Given the description of an element on the screen output the (x, y) to click on. 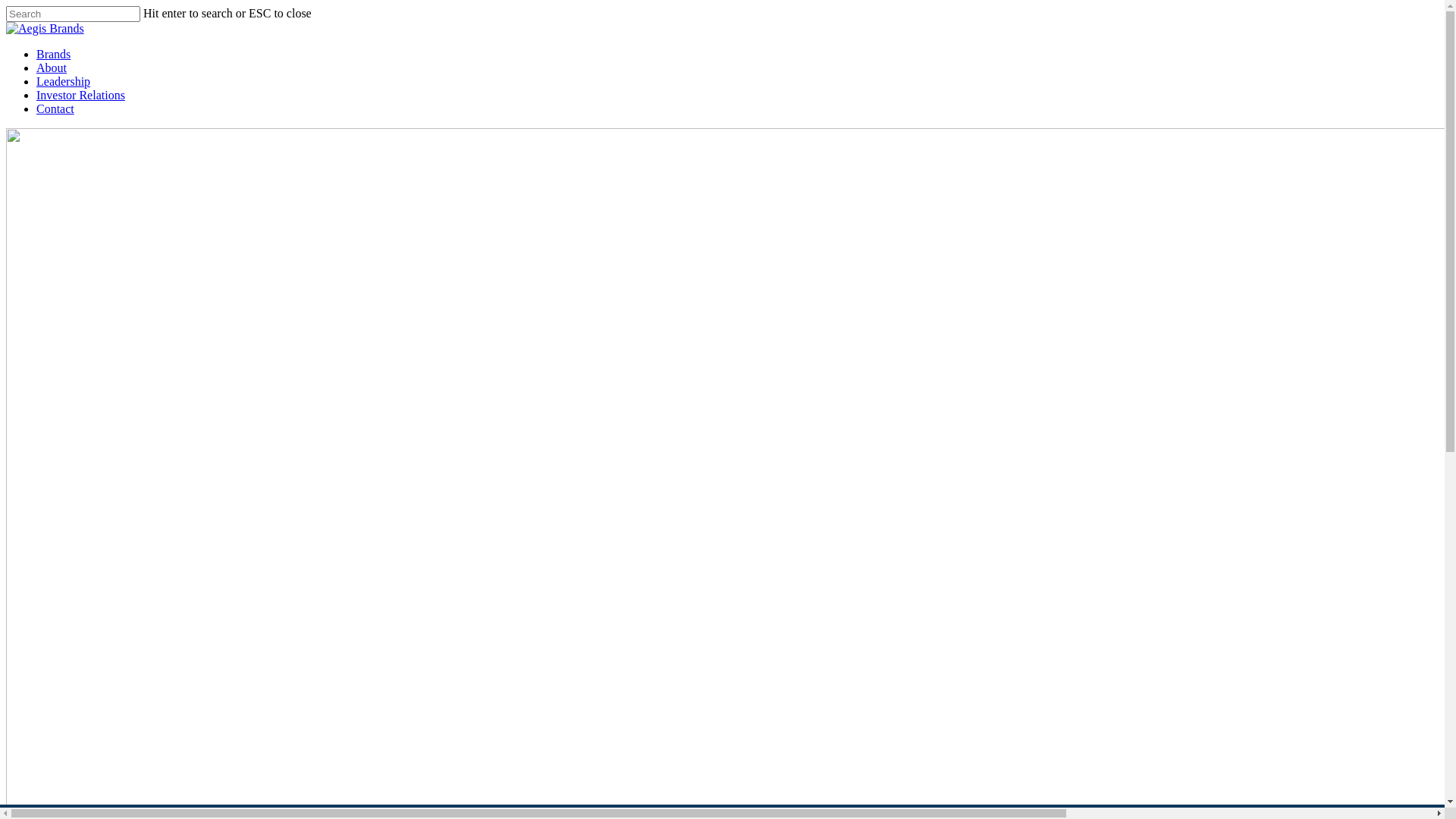
Investor Relations Element type: text (80, 94)
Leadership Element type: text (63, 81)
Contact Element type: text (55, 108)
Brands Element type: text (53, 53)
About Element type: text (51, 67)
Skip to main content Element type: text (5, 5)
